Given the description of an element on the screen output the (x, y) to click on. 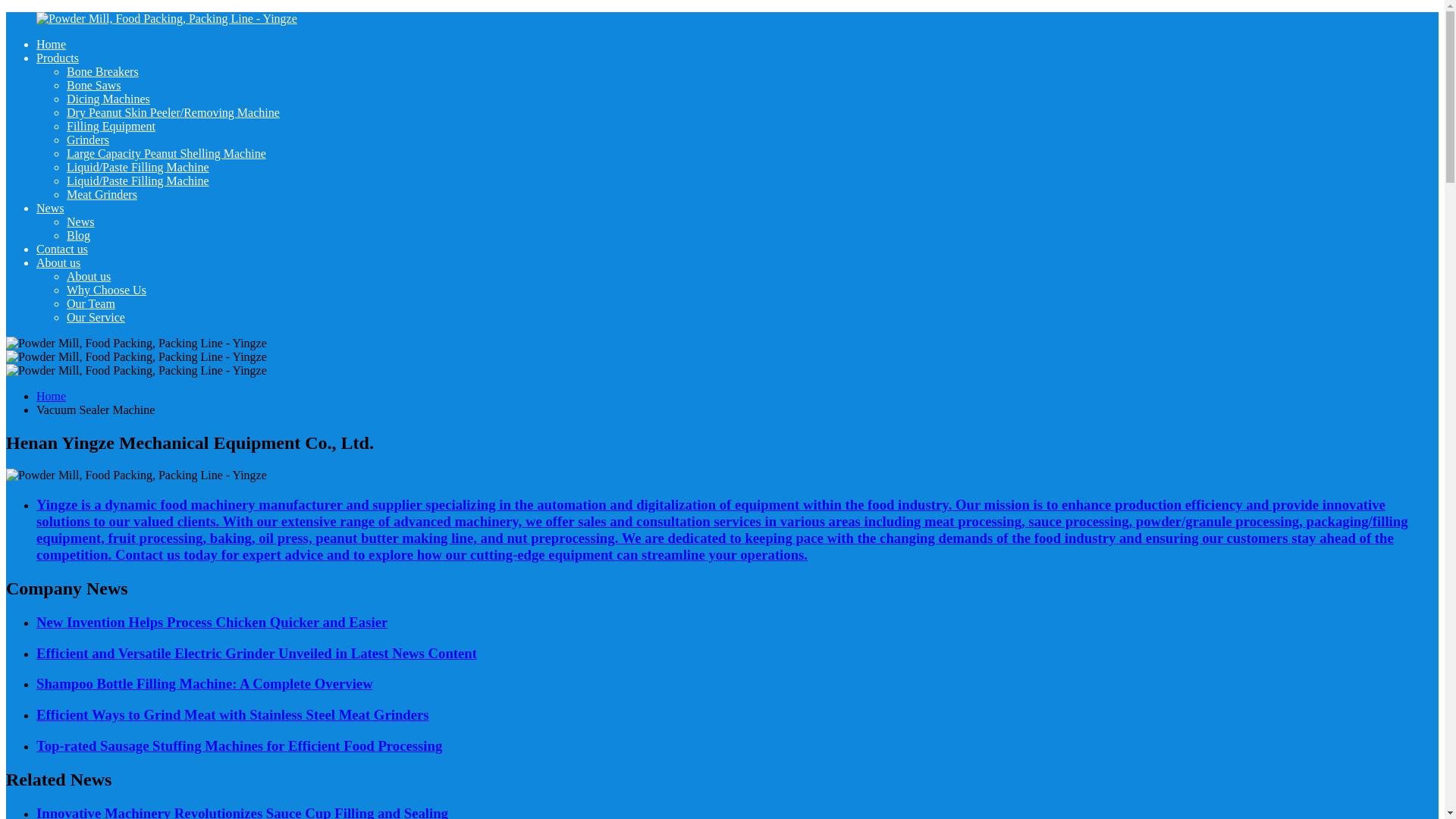
Grinders (87, 139)
Blog (78, 235)
About us (58, 262)
Dicing Machines (107, 98)
Meat Grinders (101, 194)
Contact us (61, 248)
Our Service (95, 317)
Home (50, 395)
Home (50, 43)
Why Choose Us (106, 289)
Bone Breakers (102, 71)
Products (57, 57)
Bone Saws (93, 84)
About us (88, 276)
Large Capacity Peanut Shelling Machine (166, 153)
